Given the description of an element on the screen output the (x, y) to click on. 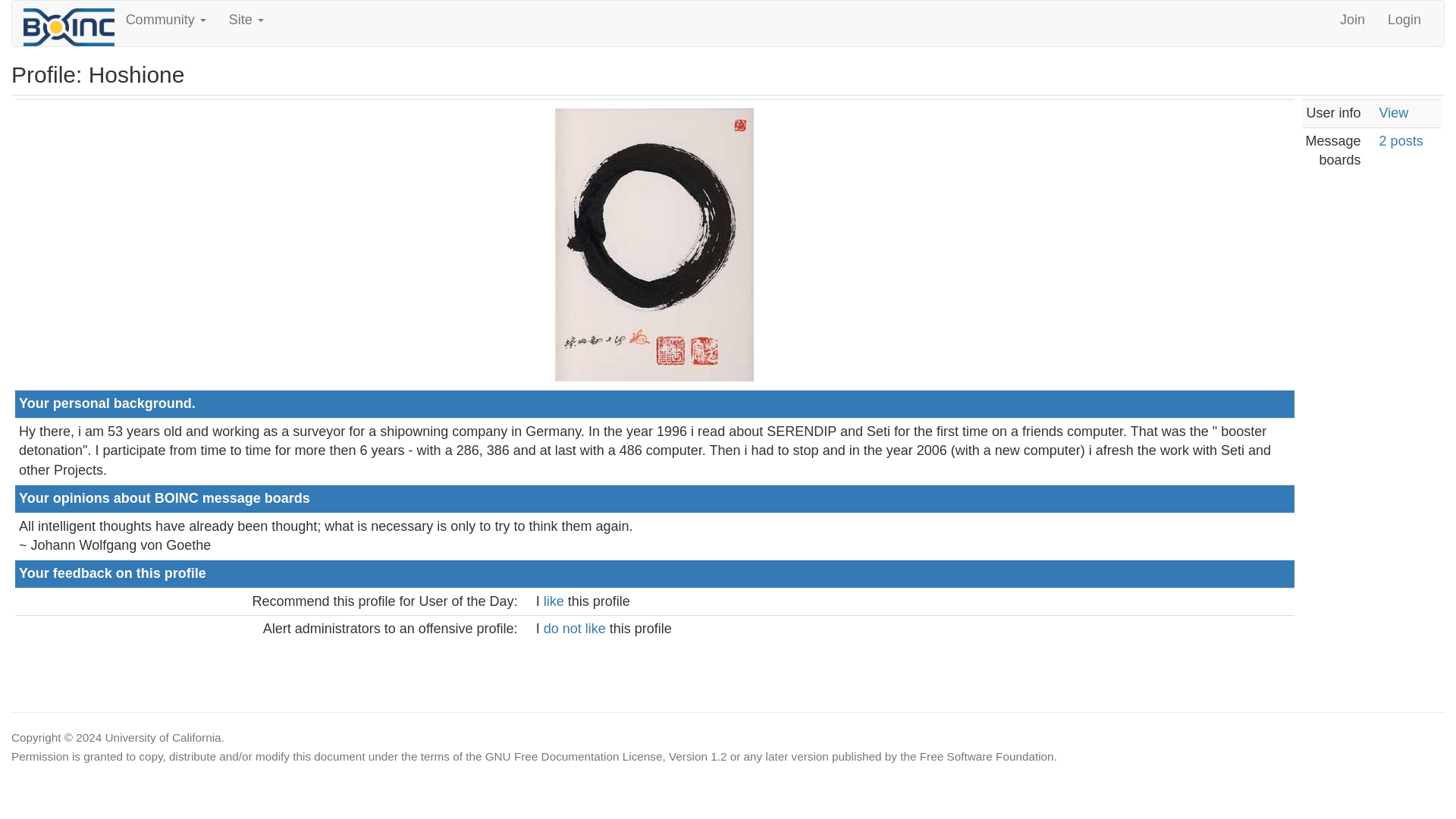
Join (1351, 19)
2 posts (1400, 140)
do not like (576, 628)
Community (165, 19)
View (1393, 112)
like (555, 601)
Login (1403, 19)
Site (245, 19)
